Given the description of an element on the screen output the (x, y) to click on. 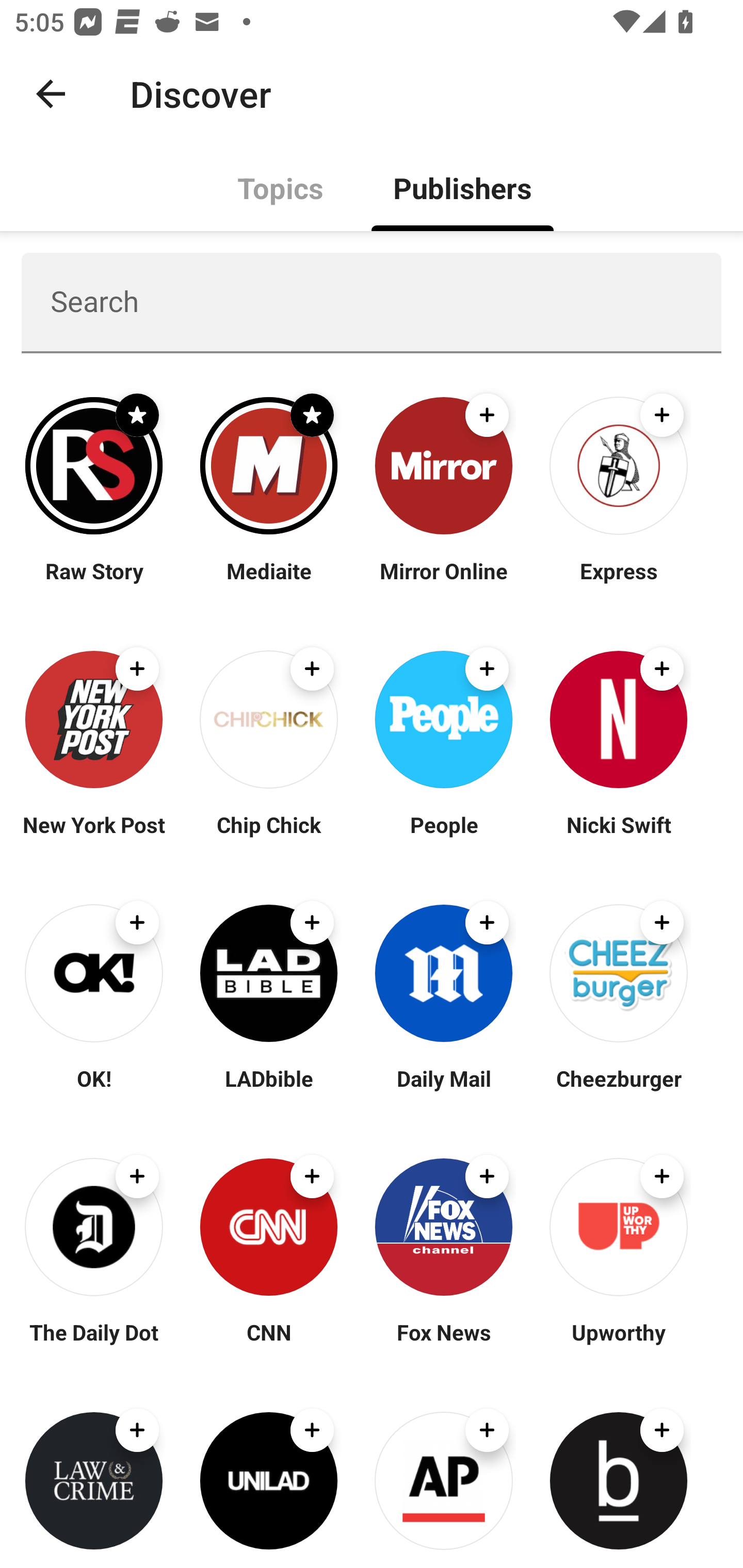
Topics (280, 187)
Search (371, 302)
Raw Story (93, 582)
Mediaite (268, 582)
Mirror Online (443, 582)
Express (618, 582)
New York Post (93, 836)
Chip Chick (268, 836)
People (443, 836)
Nicki Swift (618, 836)
OK! (93, 1090)
LADbible (268, 1090)
Daily Mail (443, 1090)
Cheezburger (618, 1090)
The Daily Dot (93, 1344)
CNN (268, 1344)
Fox News (443, 1344)
